Given the description of an element on the screen output the (x, y) to click on. 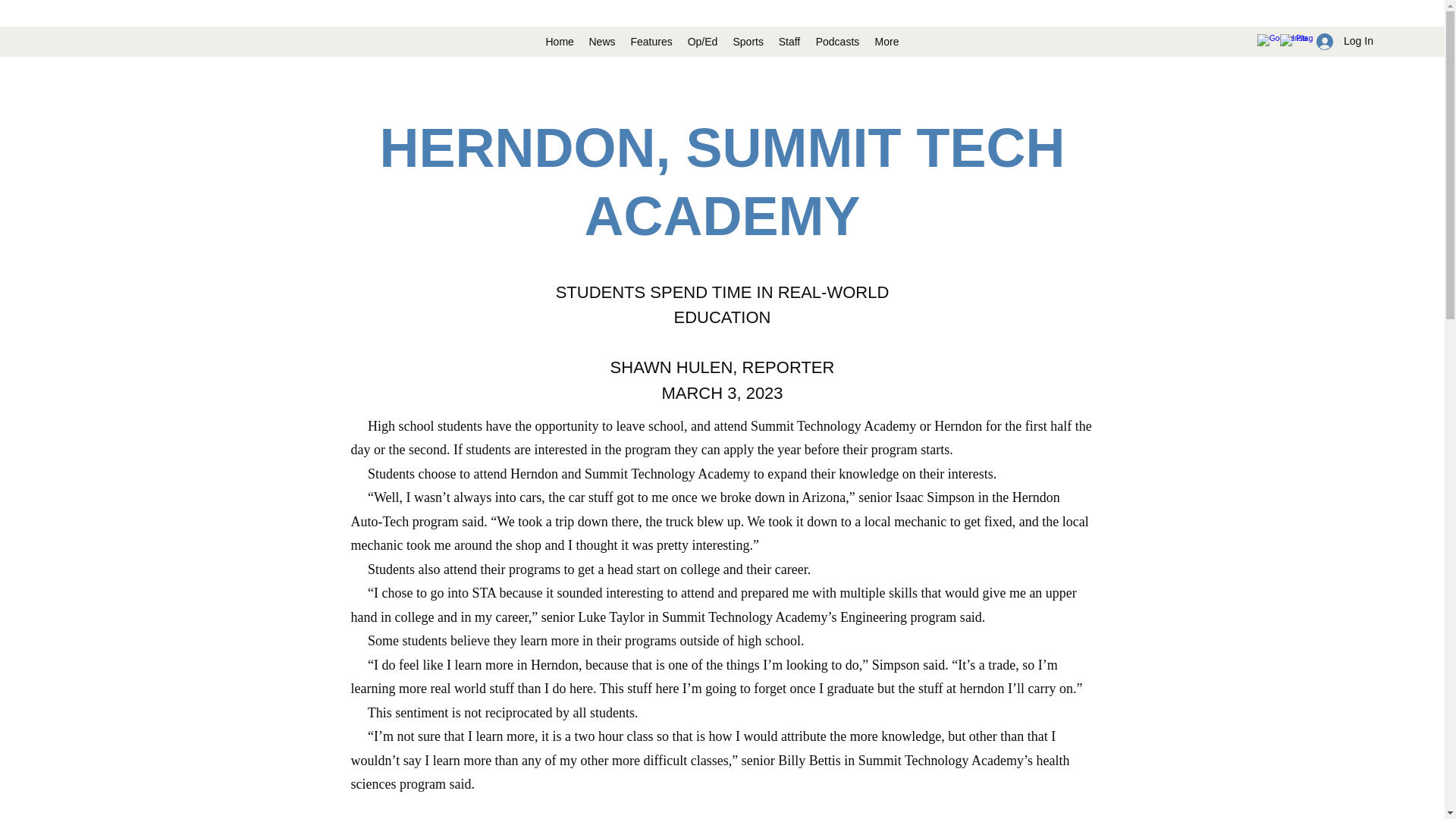
Features (651, 41)
Home (558, 41)
Staff (789, 41)
Podcasts (837, 41)
Sports (747, 41)
News (601, 41)
